Given the description of an element on the screen output the (x, y) to click on. 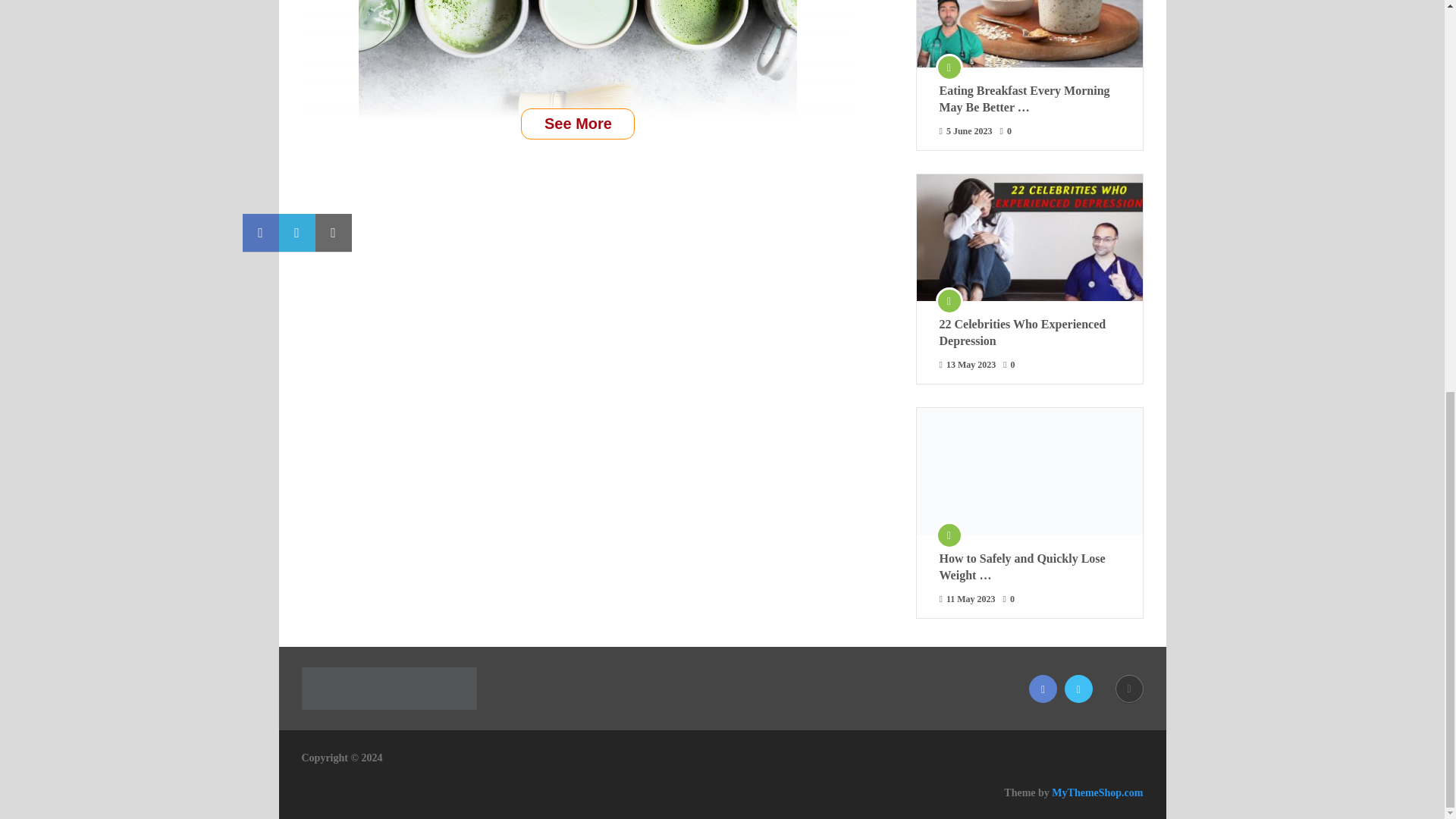
How to Safely and Quickly Lose Weight While Breastfeeding (1028, 471)
MyThemeShop.com (1096, 792)
22 Celebrities Who Experienced Depression (1028, 238)
22 Celebrities Who Experienced Depression (1029, 332)
Eating Breakfast Every Morning May Be Better for Your Heart (1029, 99)
How to Safely and Quickly Lose Weight While Breastfeeding (1029, 566)
Eating Breakfast Every Morning May Be Better for Your Heart (1028, 33)
22 Celebrities Who Experienced Depression (1029, 332)
